Given the description of an element on the screen output the (x, y) to click on. 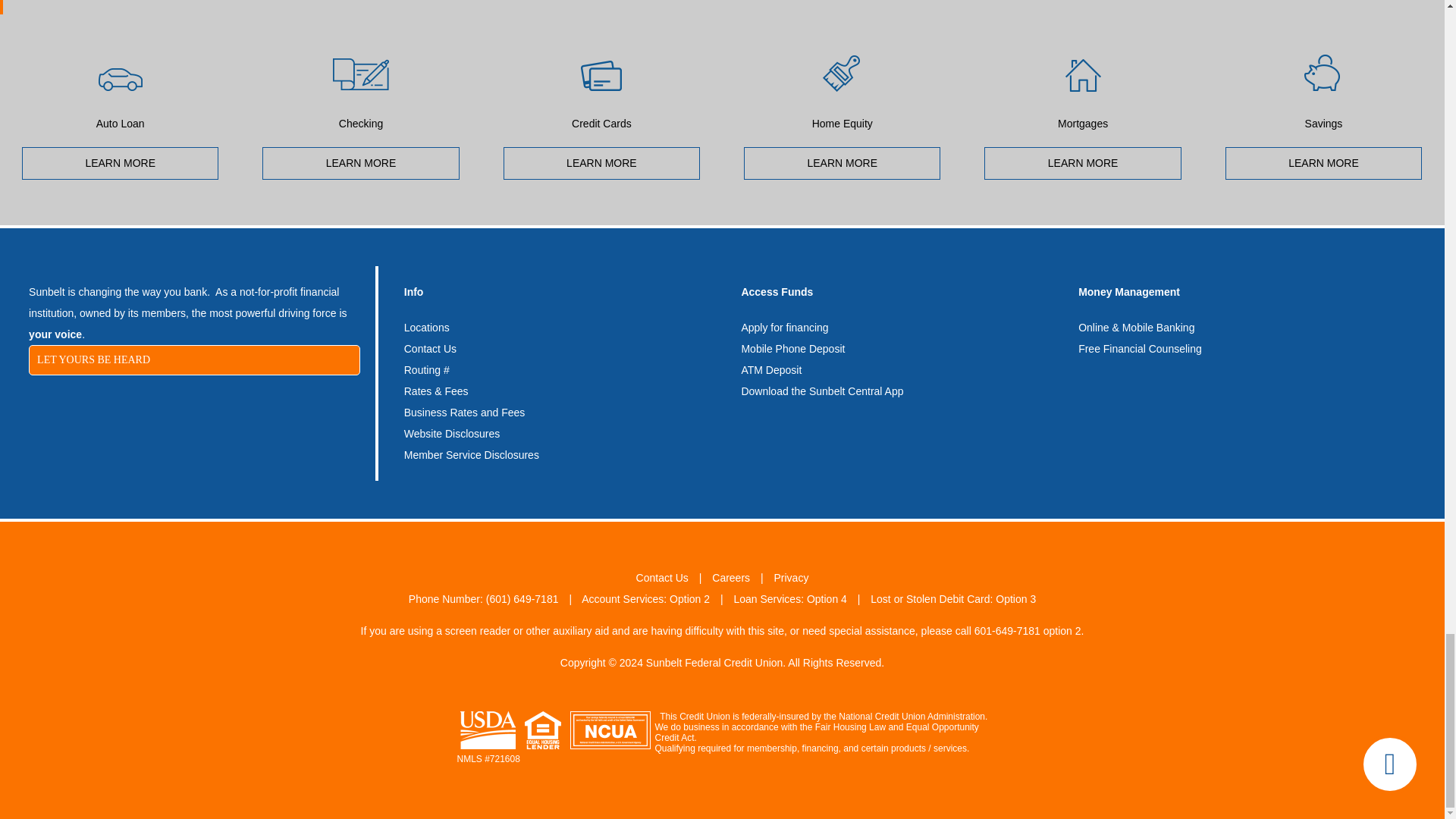
Equal Housing Lender (542, 730)
National Credit Union Administration (610, 730)
